Given the description of an element on the screen output the (x, y) to click on. 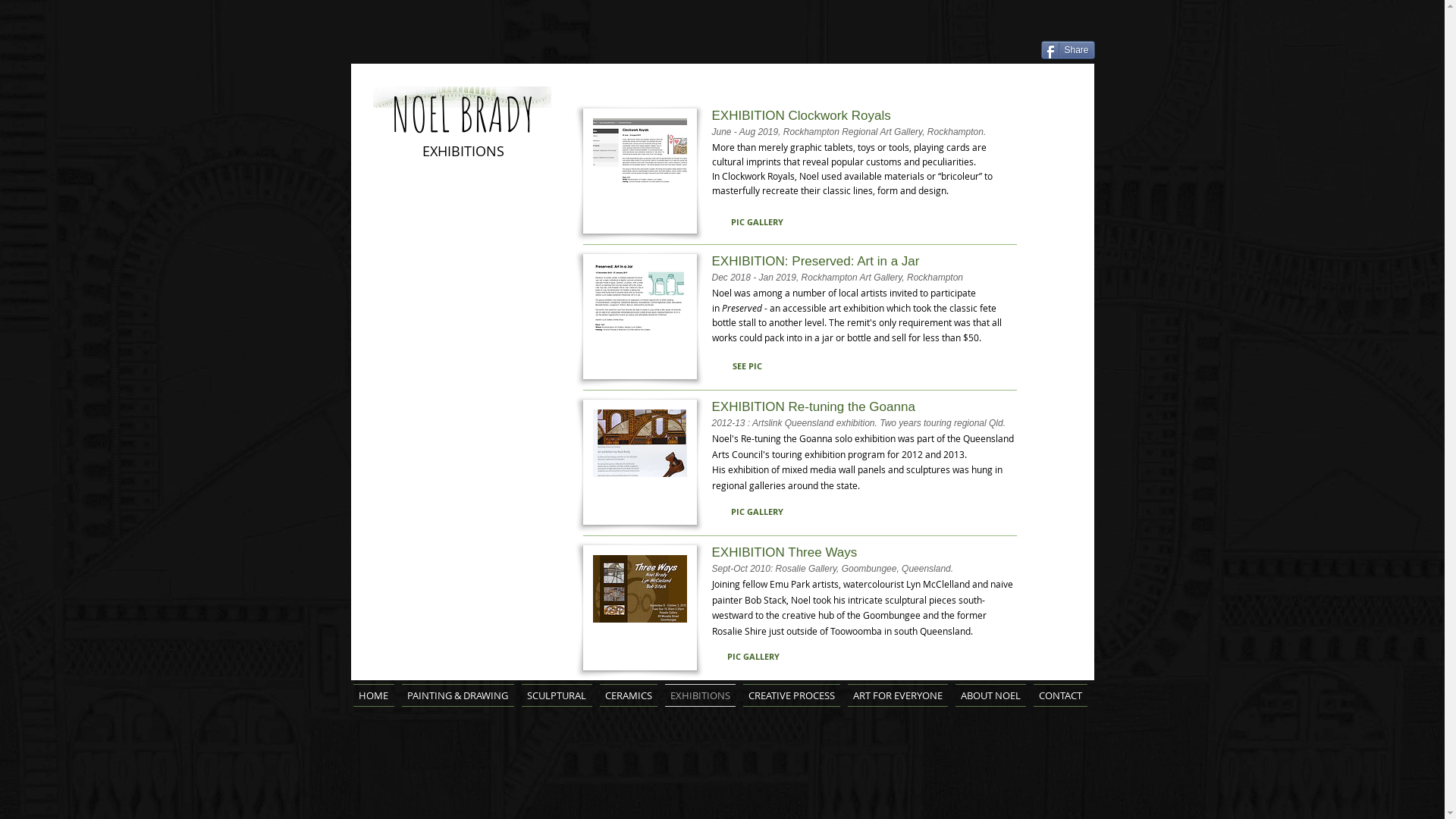
EXHIBITION Clockwork Royals Element type: text (862, 115)
PIC GALLERY Element type: text (756, 221)
ClockworkRoyal.png Element type: hover (639, 170)
PAINTING & DRAWING Element type: text (457, 695)
ART FOR EVERYONE Element type: text (896, 695)
CONTACT Element type: text (1058, 695)
EXHIBITION: Preserved: Art in a Jar Element type: text (862, 261)
EXHIBITION Re-tuning the Goanna Element type: text (862, 406)
HOME Element type: text (375, 695)
CERAMICS Element type: text (628, 695)
ABOUT NOEL Element type: text (989, 695)
SCULPTURAL Element type: text (556, 695)
EXHIBITION Three Ways Element type: text (862, 552)
PIC GALLERY Element type: text (752, 656)
Three ways.jpg Element type: hover (639, 607)
CREATIVE PROCESS Element type: text (790, 695)
Retuning promo.jpg Element type: hover (639, 461)
EXHIBITIONS Element type: text (700, 695)
SEE PIC Element type: text (747, 365)
Share Element type: text (1067, 49)
PIC GALLERY Element type: text (756, 511)
